Given the description of an element on the screen output the (x, y) to click on. 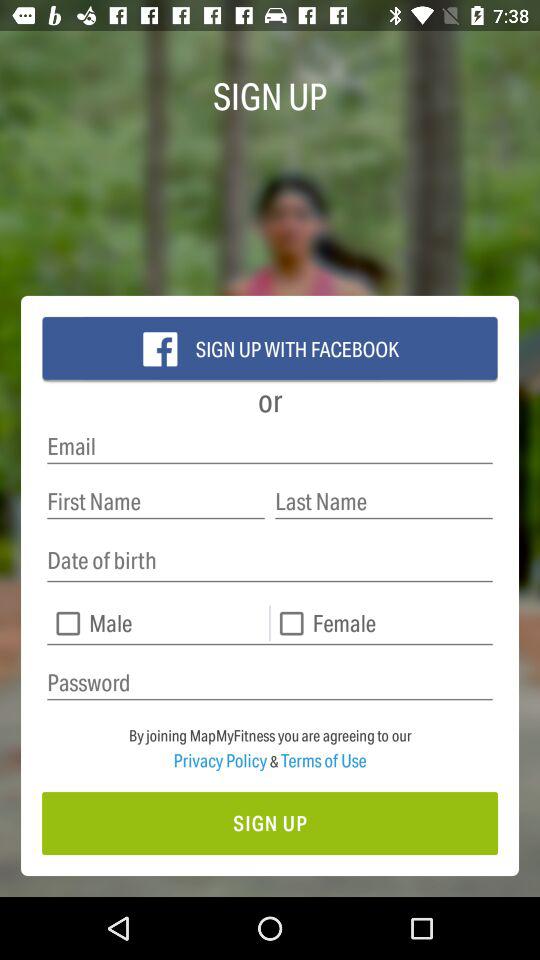
enter last name (384, 501)
